Given the description of an element on the screen output the (x, y) to click on. 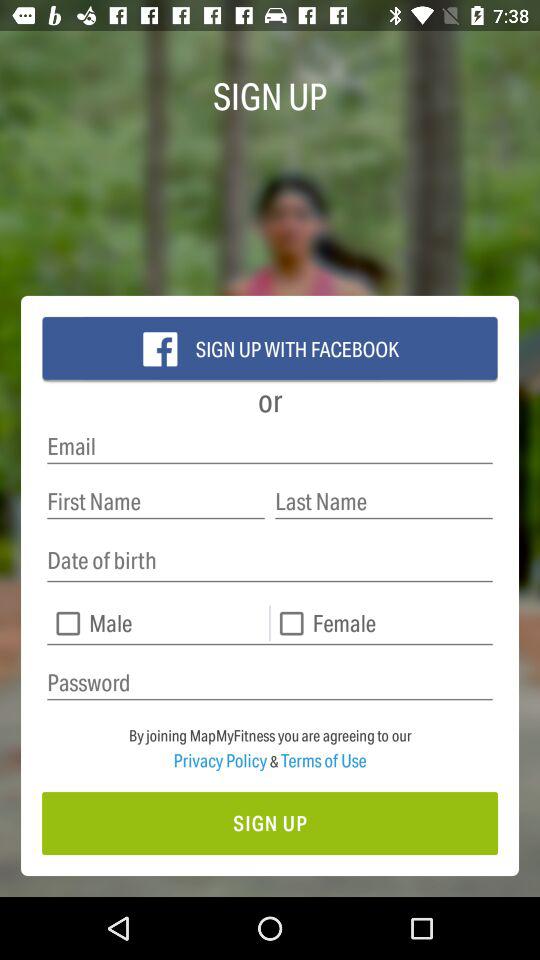
enter last name (384, 501)
